Given the description of an element on the screen output the (x, y) to click on. 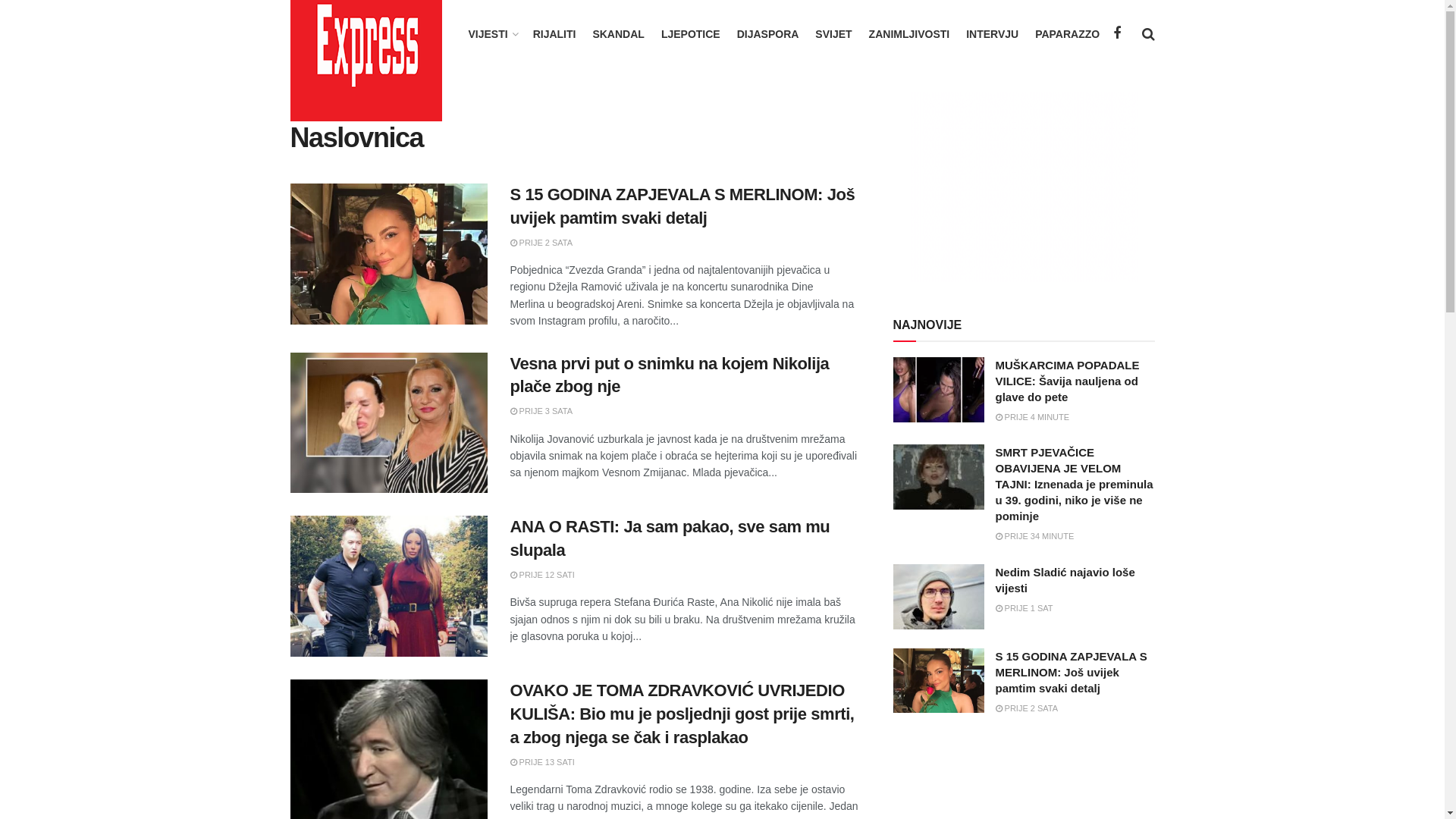
PRIJE 2 SATA Element type: text (1025, 707)
SKANDAL Element type: text (617, 33)
Kategorija Element type: text (358, 99)
VIJESTI Element type: text (492, 33)
ANA O RASTI: Ja sam pakao, sve sam mu slupala Element type: text (669, 538)
INTERVJU Element type: text (992, 33)
NAJNOVIJE Element type: text (927, 324)
ZANIMLJIVOSTI Element type: text (909, 33)
PRIJE 12 SATI Element type: text (541, 574)
PAPARAZZO Element type: text (1067, 33)
PRIJE 34 MINUTE Element type: text (1033, 535)
PRIJE 13 SATI Element type: text (541, 761)
PRIJE 4 MINUTE Element type: text (1031, 416)
PRIJE 2 SATA Element type: text (540, 242)
RIJALITI Element type: text (554, 33)
PRIJE 1 SAT Element type: text (1023, 607)
LJEPOTICE Element type: text (690, 33)
DIJASPORA Element type: text (768, 33)
SVIJET Element type: text (833, 33)
3rd party ad content Element type: hover (1023, 186)
PRIJE 3 SATA Element type: text (540, 410)
Naslovnica Element type: text (416, 99)
